Given the description of an element on the screen output the (x, y) to click on. 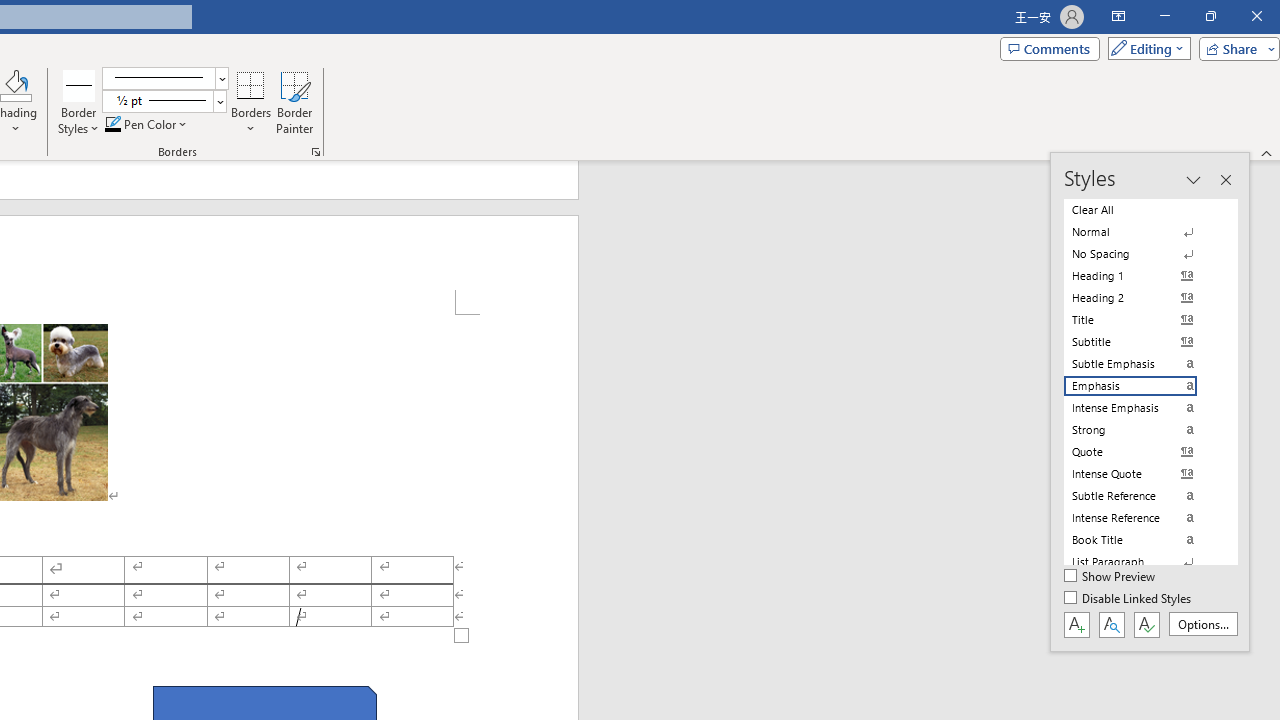
Normal (1142, 232)
Emphasis (1142, 385)
Clear All (1142, 209)
Pen Weight (164, 101)
Pen Style (165, 78)
List Paragraph (1142, 561)
Book Title (1142, 539)
Strong (1142, 429)
